Given the description of an element on the screen output the (x, y) to click on. 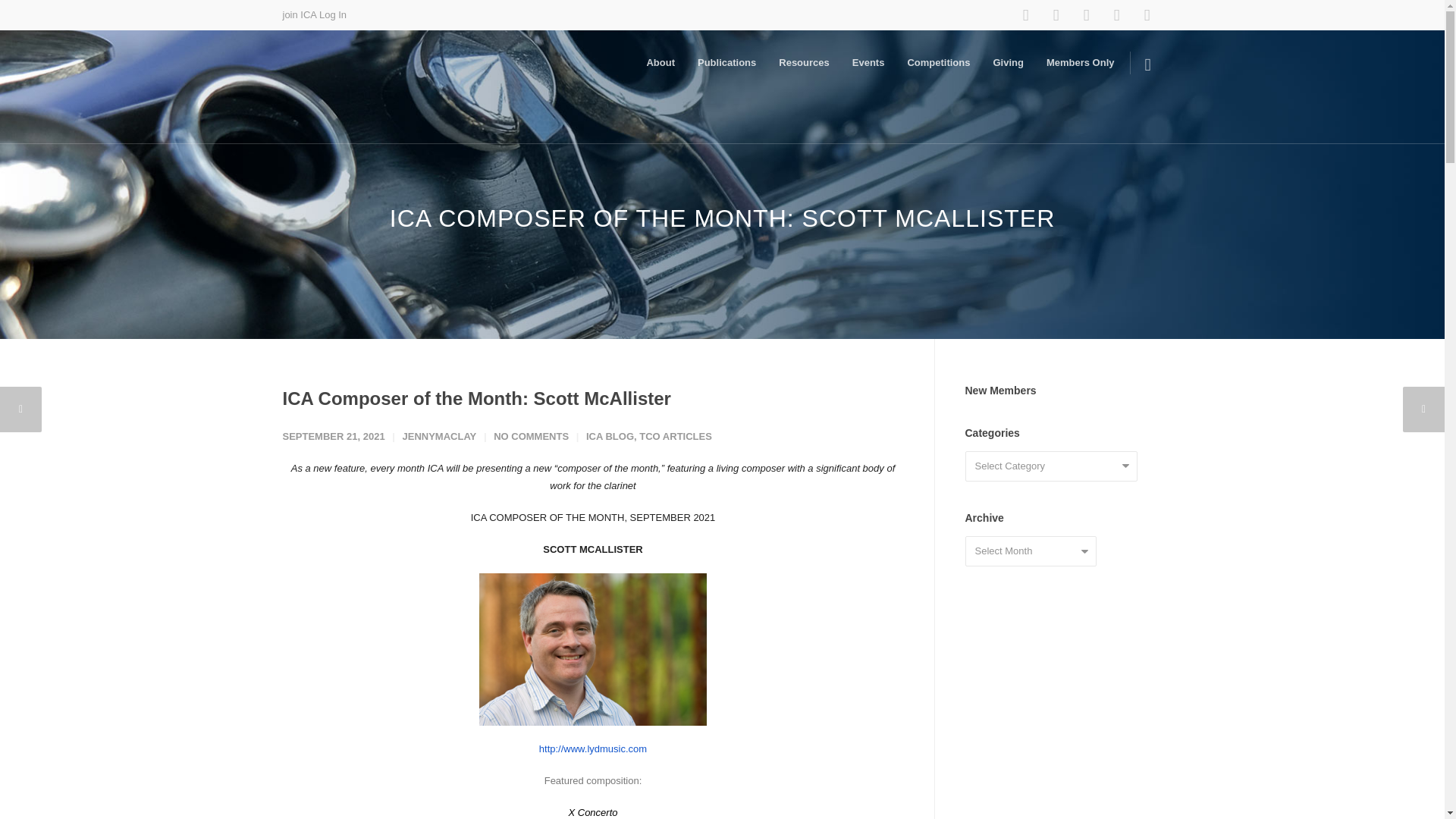
Facebook (1025, 15)
YouTube (1085, 15)
Threads (1115, 15)
About (659, 62)
join ICA (298, 14)
Resources (803, 62)
Publications (726, 62)
User Login (1146, 15)
Permalink to ICA Composer of the Month: Scott McAllister (475, 398)
Log In (332, 14)
Instagram (1055, 15)
